Given the description of an element on the screen output the (x, y) to click on. 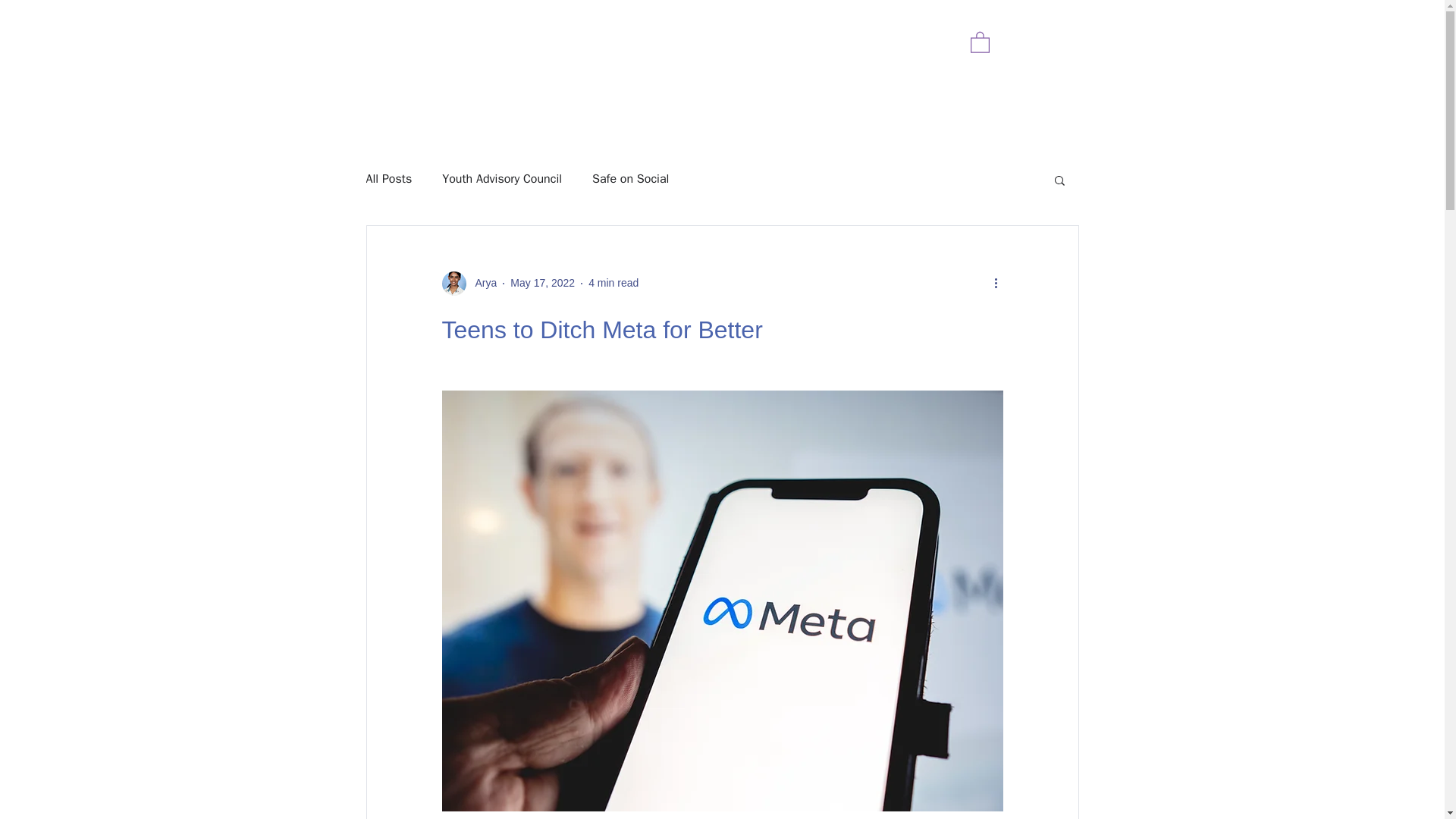
4 min read (613, 282)
Safe on Social (630, 179)
Arya (480, 283)
Youth Advisory Council (502, 179)
All Posts (388, 179)
May 17, 2022 (543, 282)
